Given the description of an element on the screen output the (x, y) to click on. 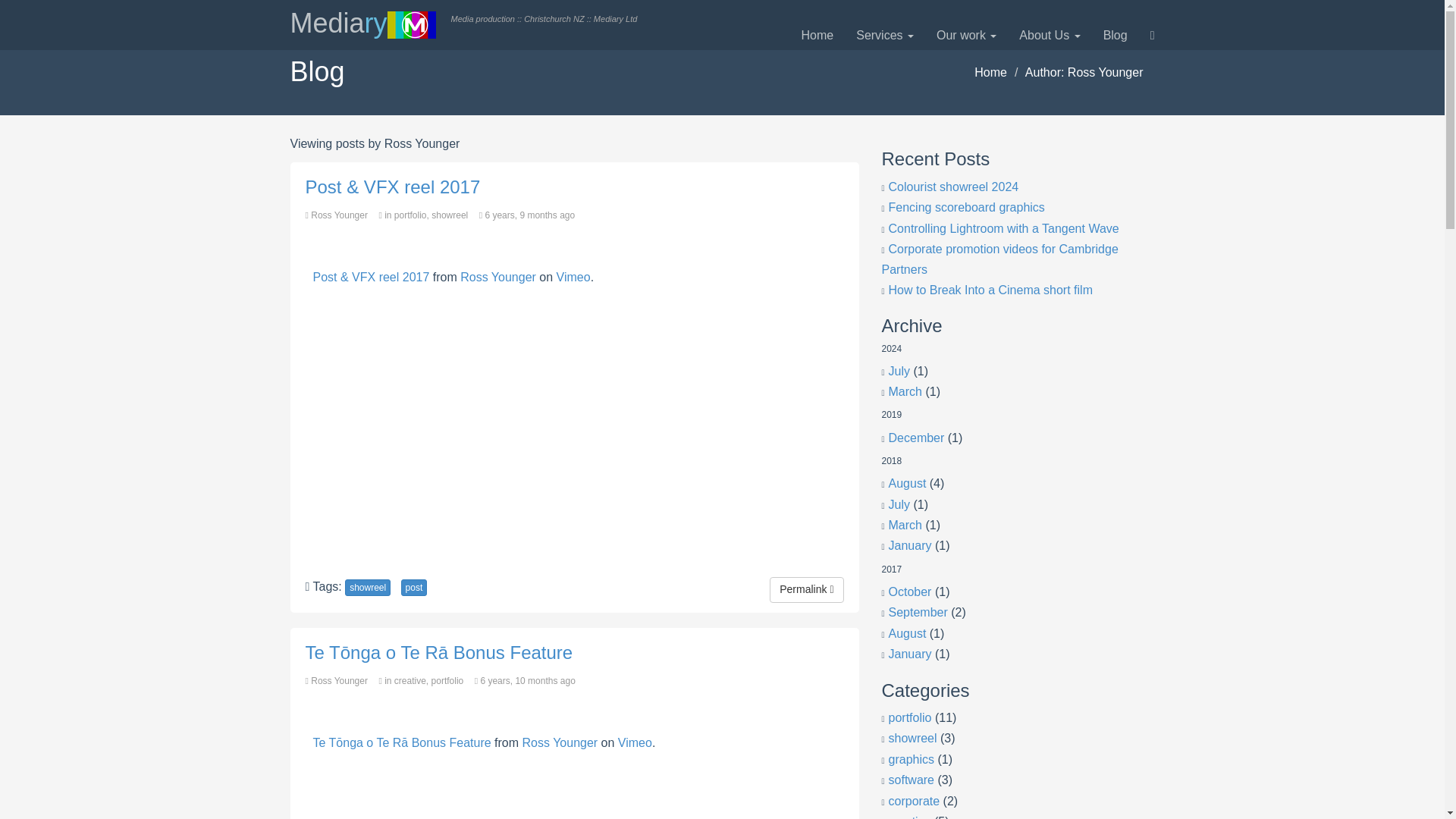
Home (817, 35)
Our work (965, 35)
July (899, 370)
March (904, 391)
October (909, 591)
Mediary (362, 24)
Blog (1115, 35)
showreel (912, 738)
About Us (1048, 35)
How to Break Into a Cinema short film (990, 289)
Corporate promotion videos for Cambridge Partners (999, 259)
August (907, 633)
January (909, 653)
portfolio (909, 717)
August (907, 482)
